Given the description of an element on the screen output the (x, y) to click on. 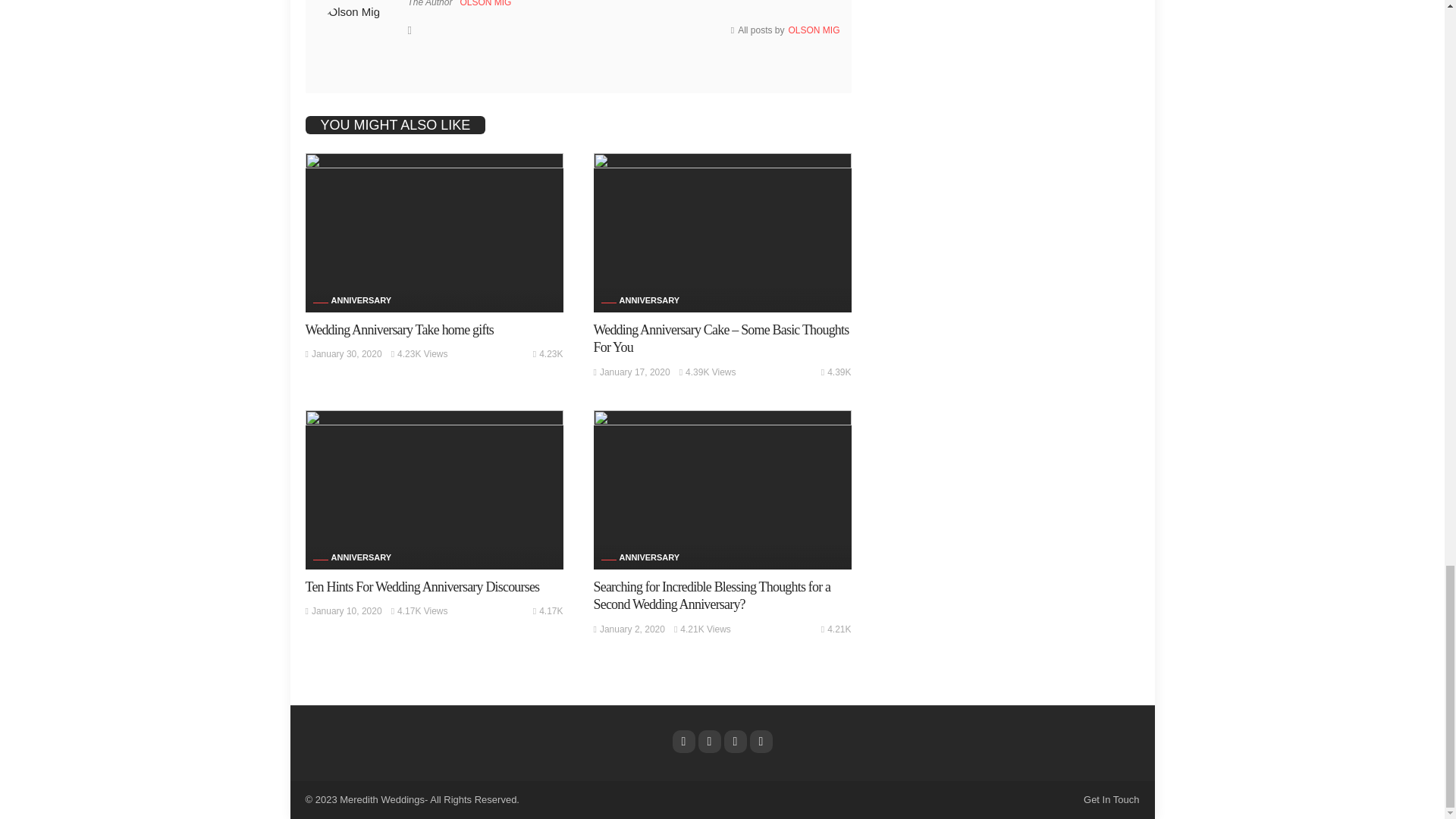
OLSON MIG (485, 3)
OLSON MIG (813, 30)
